Given the description of an element on the screen output the (x, y) to click on. 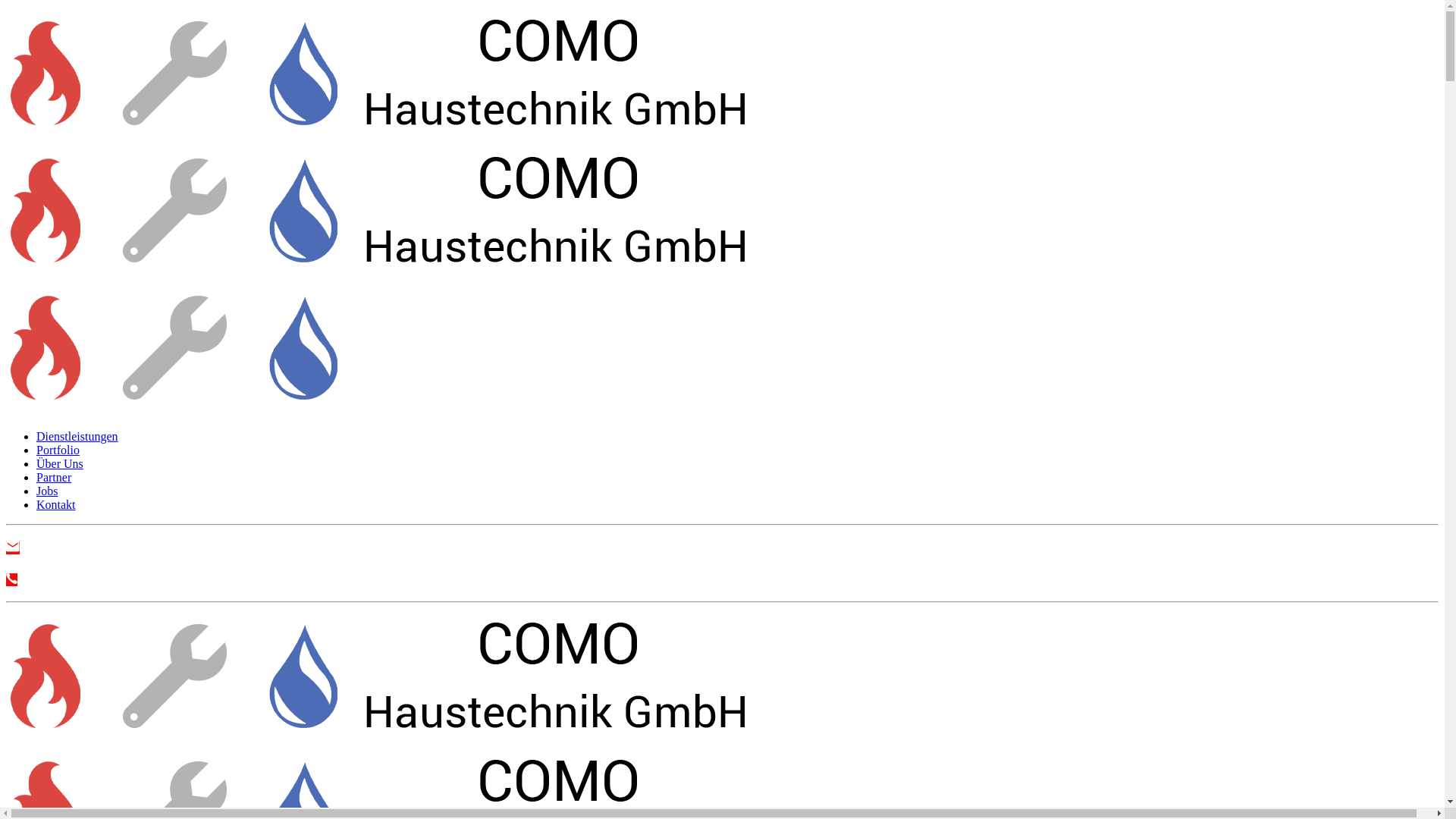
Portfolio Element type: text (57, 449)
Jobs Element type: text (46, 490)
Kontakt Element type: text (55, 504)
Dienstleistungen Element type: text (77, 435)
Partner Element type: text (53, 476)
